Given the description of an element on the screen output the (x, y) to click on. 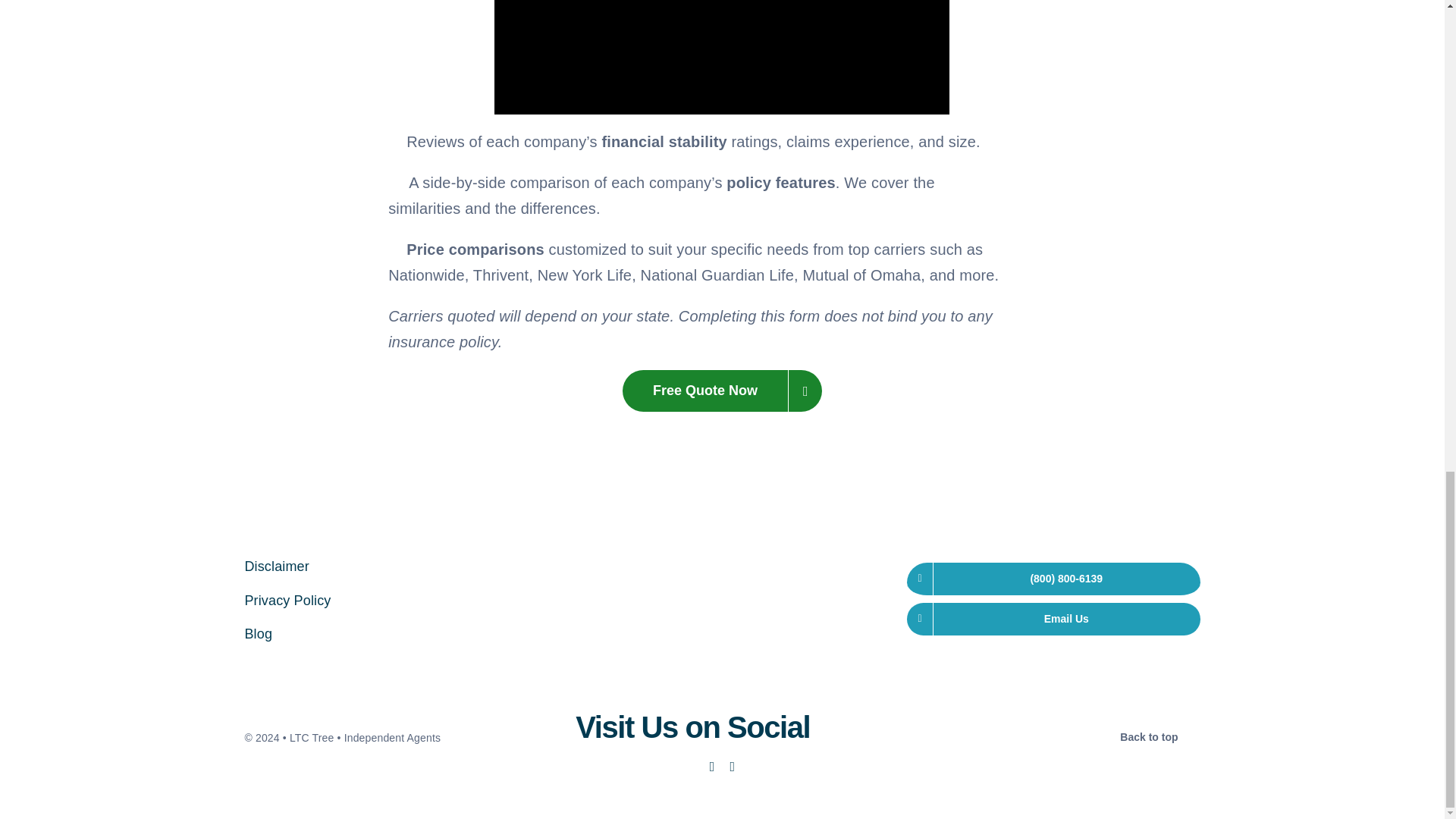
YouTube video player 1 (722, 57)
